Given the description of an element on the screen output the (x, y) to click on. 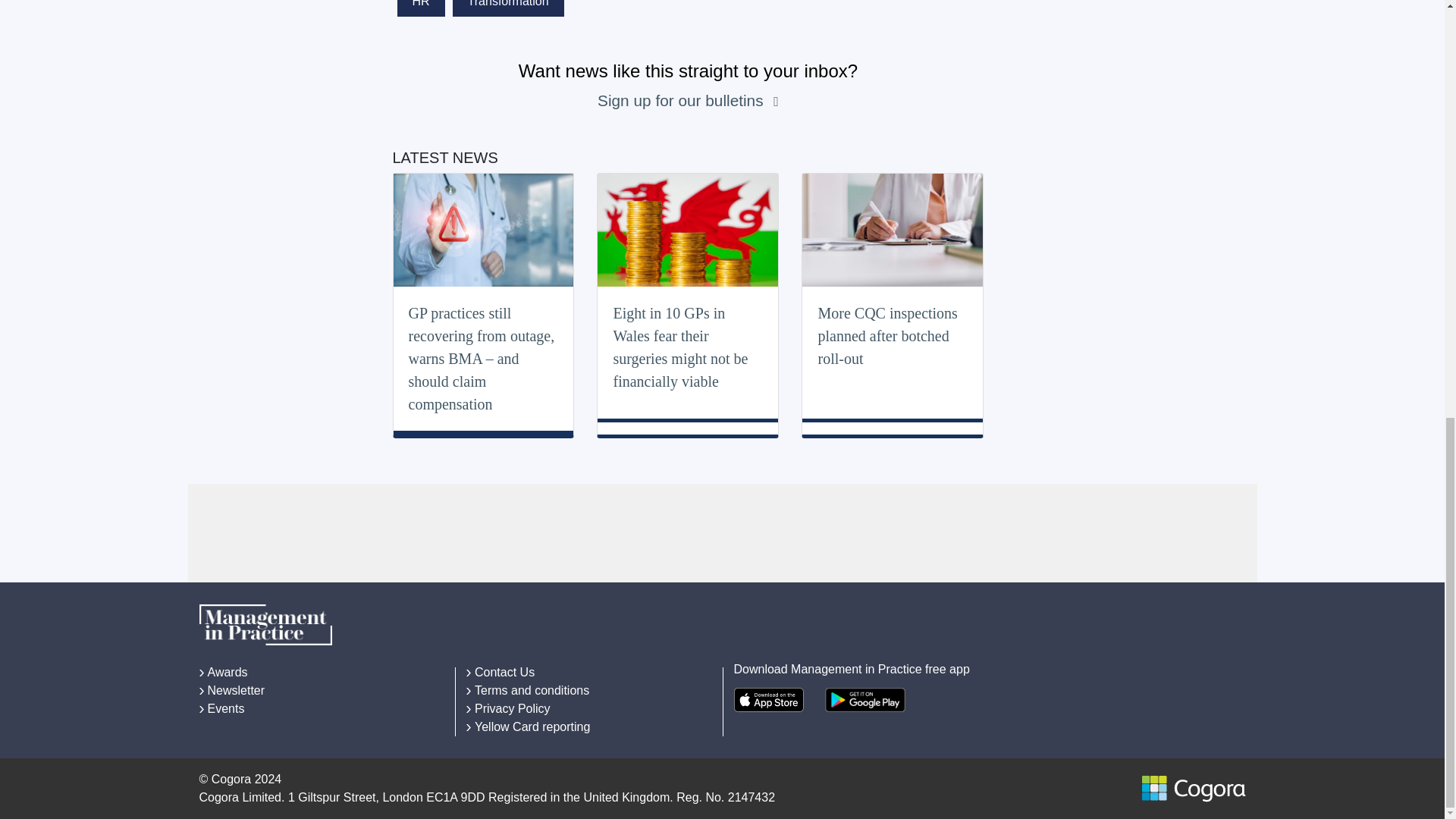
Download our app from Google Play (865, 699)
Download our app from the Apple App Store (768, 699)
Sign up for our bulletins (681, 99)
